Given the description of an element on the screen output the (x, y) to click on. 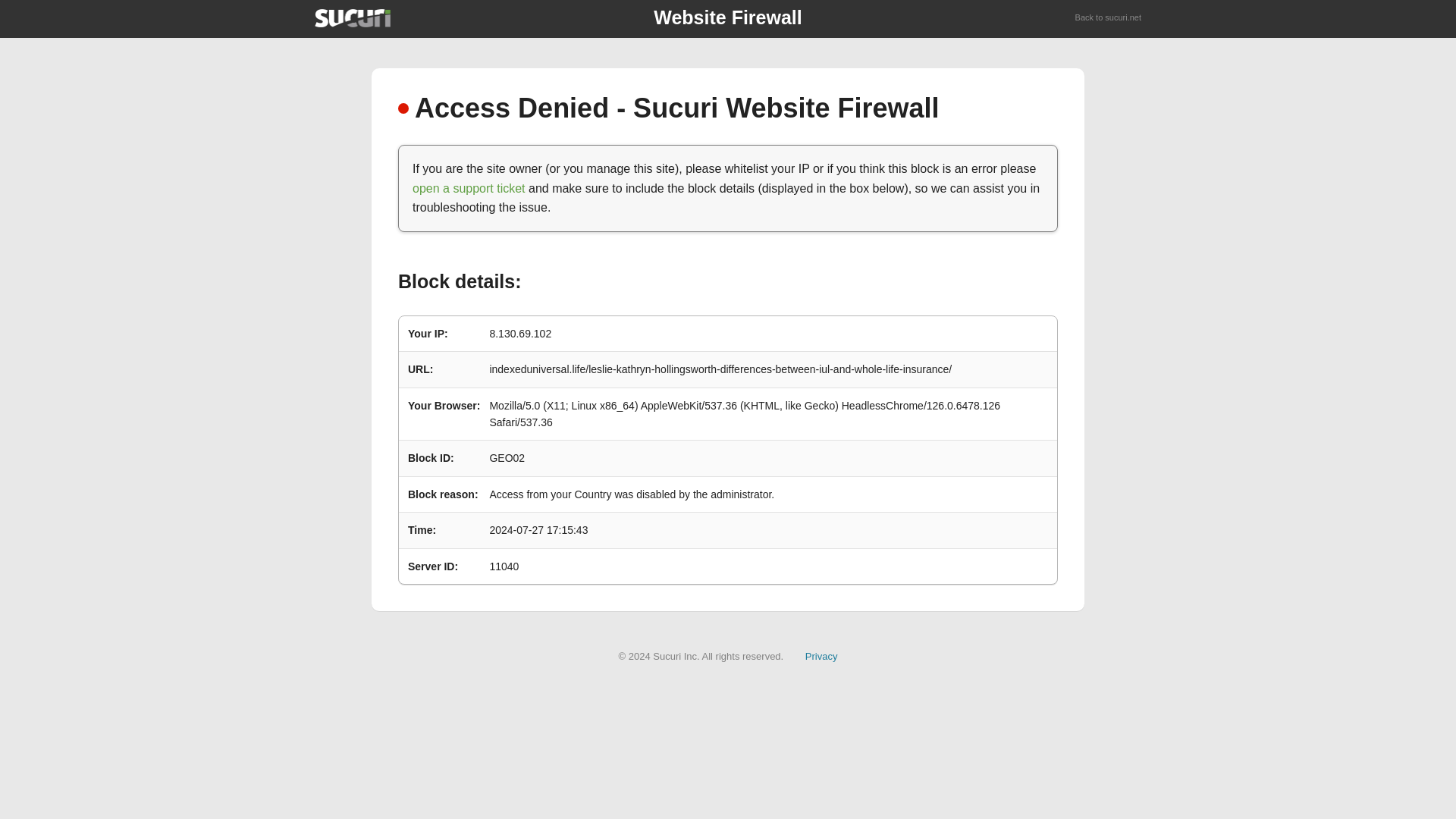
Back to sucuri.net (1108, 18)
open a support ticket (468, 187)
Privacy (821, 655)
